Given the description of an element on the screen output the (x, y) to click on. 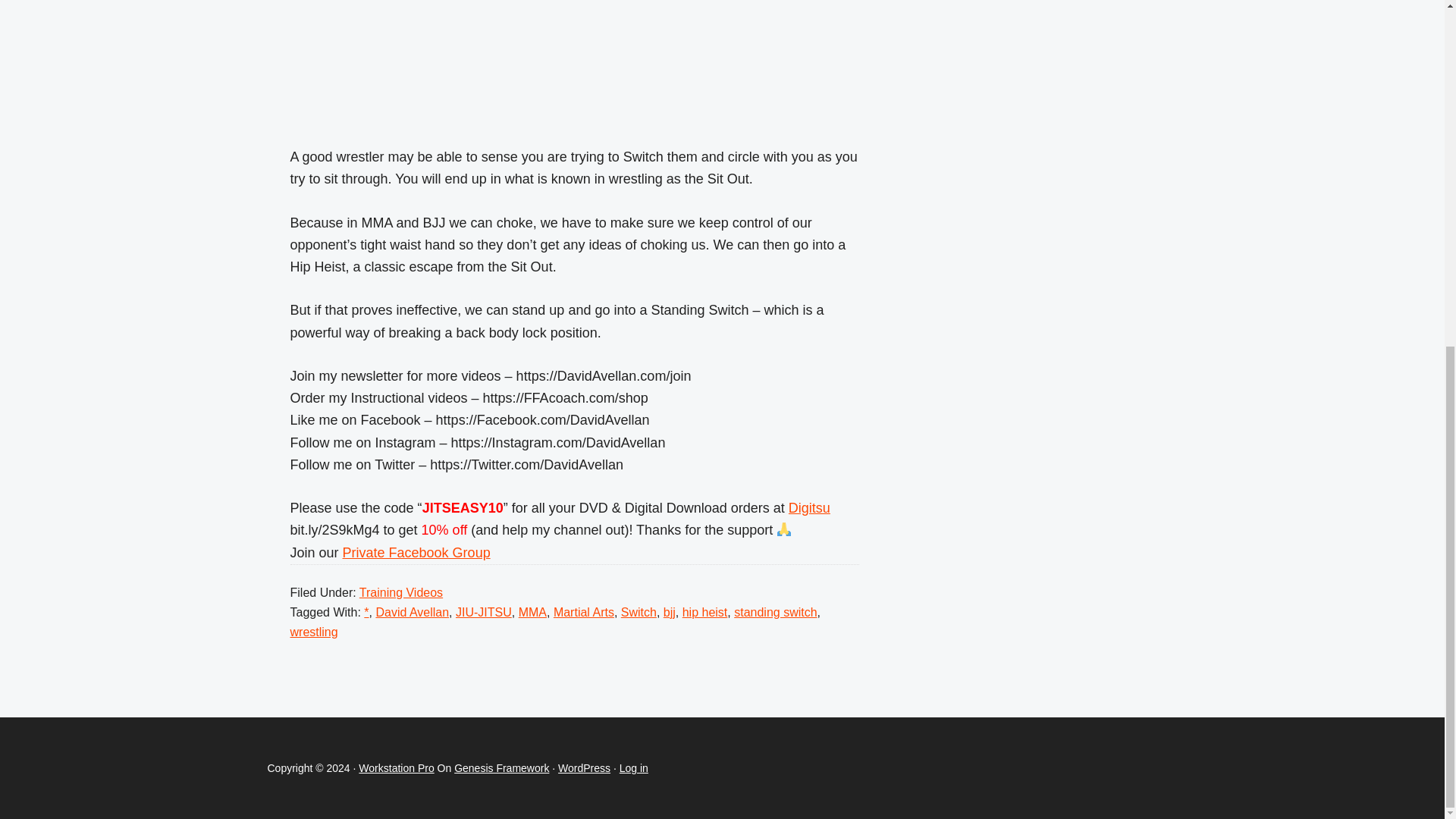
Training Videos (400, 592)
Martial Arts (583, 612)
Genesis Framework (501, 767)
JIU-JITSU (483, 612)
David Avellan (411, 612)
Workstation Pro (395, 767)
Switch (638, 612)
bjj (669, 612)
Log in (633, 767)
Digitsu (809, 507)
standing switch (774, 612)
wrestling (313, 631)
WordPress (583, 767)
hip heist (705, 612)
MMA (532, 612)
